Given the description of an element on the screen output the (x, y) to click on. 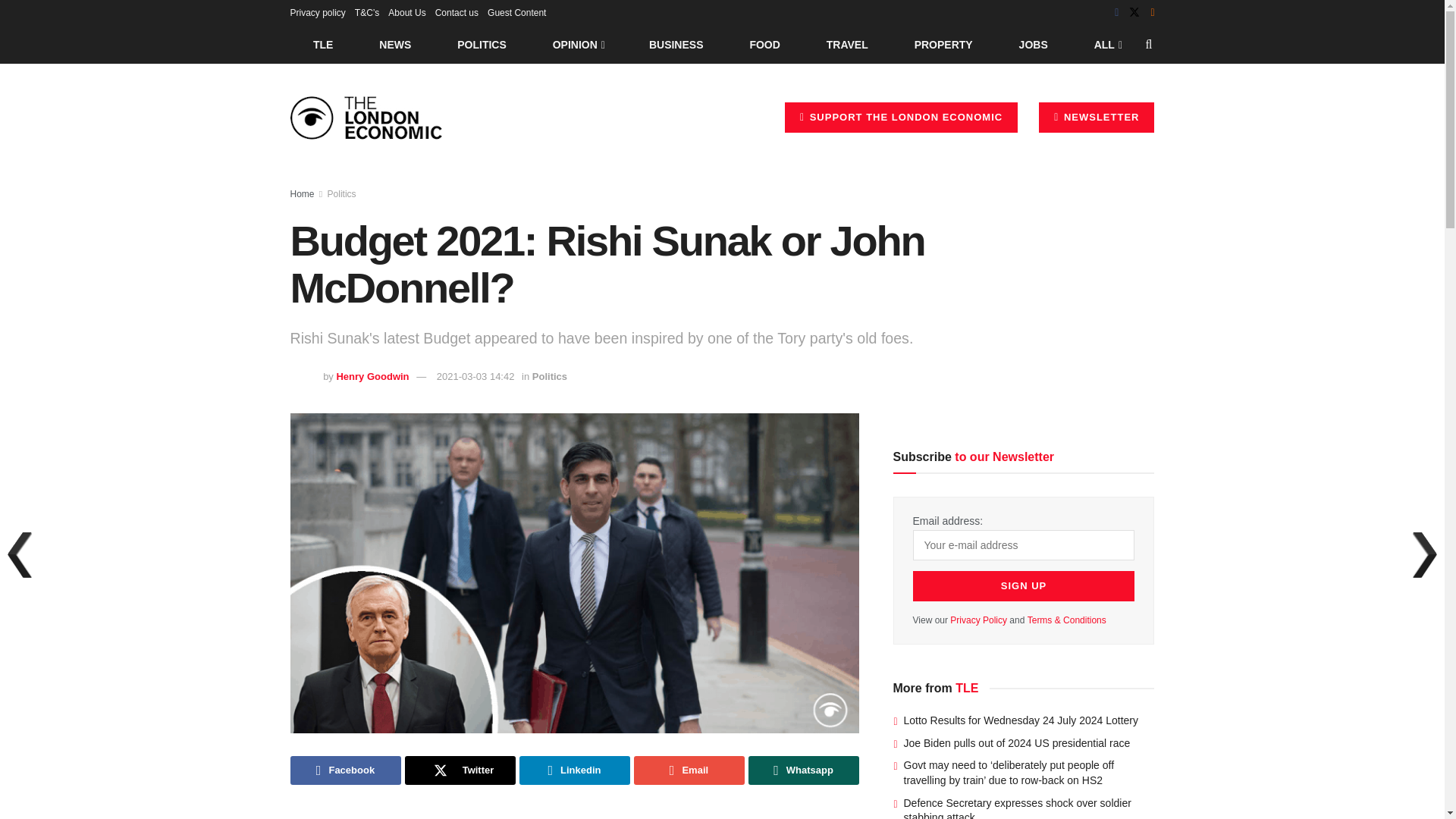
SUPPORT THE LONDON ECONOMIC (900, 117)
NEWS (394, 44)
TLE (322, 44)
About Us (406, 12)
Sign up (1023, 585)
Home (301, 194)
NEWSLETTER (1096, 117)
JOBS (1032, 44)
PROPERTY (943, 44)
ALL (1106, 44)
BUSINESS (676, 44)
POLITICS (481, 44)
Privacy policy (317, 12)
OPINION (577, 44)
Contact us (457, 12)
